Given the description of an element on the screen output the (x, y) to click on. 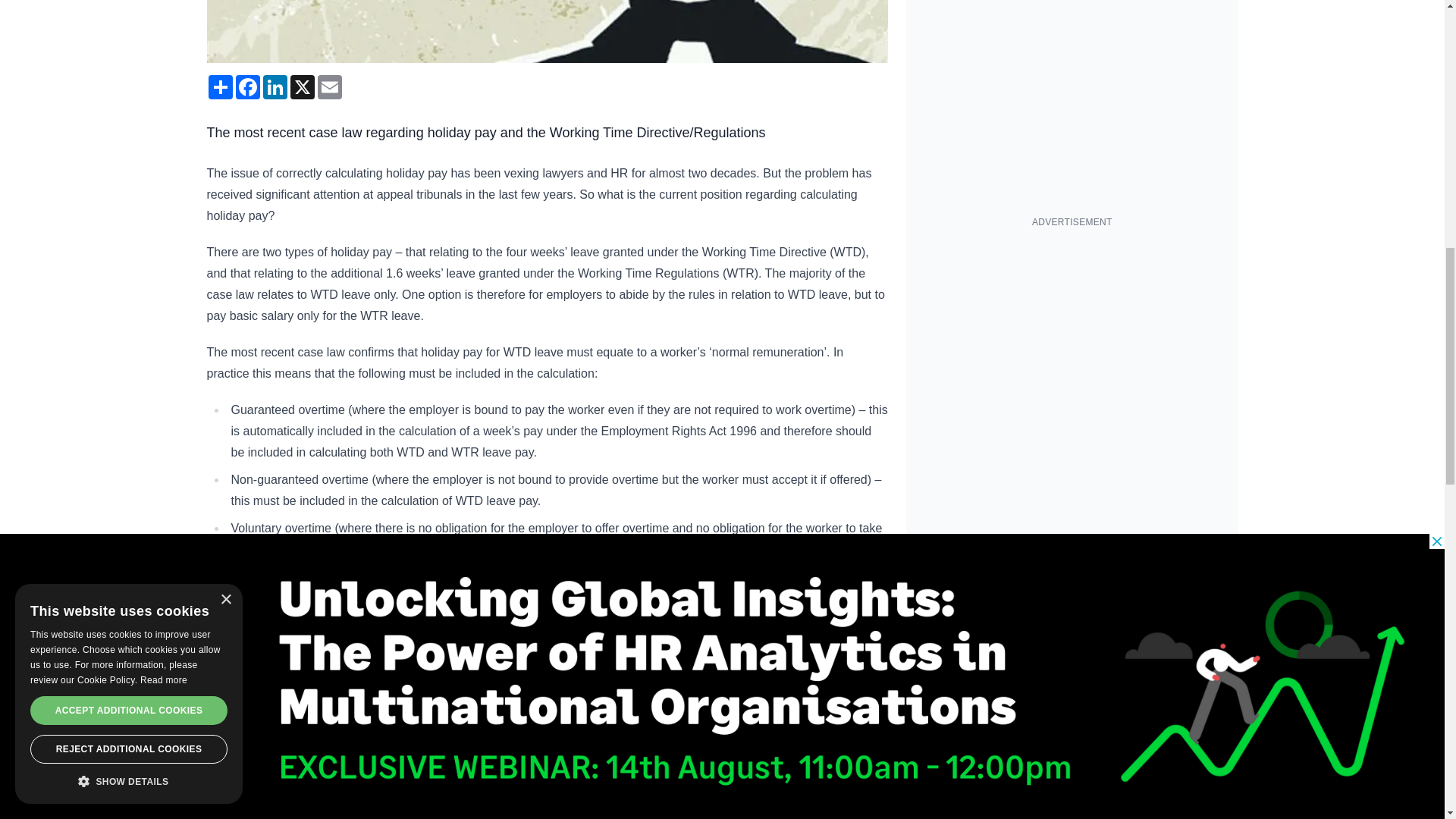
Email (328, 87)
HR Legal Service (595, 800)
Facebook (246, 87)
X (301, 87)
3rd party ad content (1072, 333)
LinkedIn (274, 87)
